Given the description of an element on the screen output the (x, y) to click on. 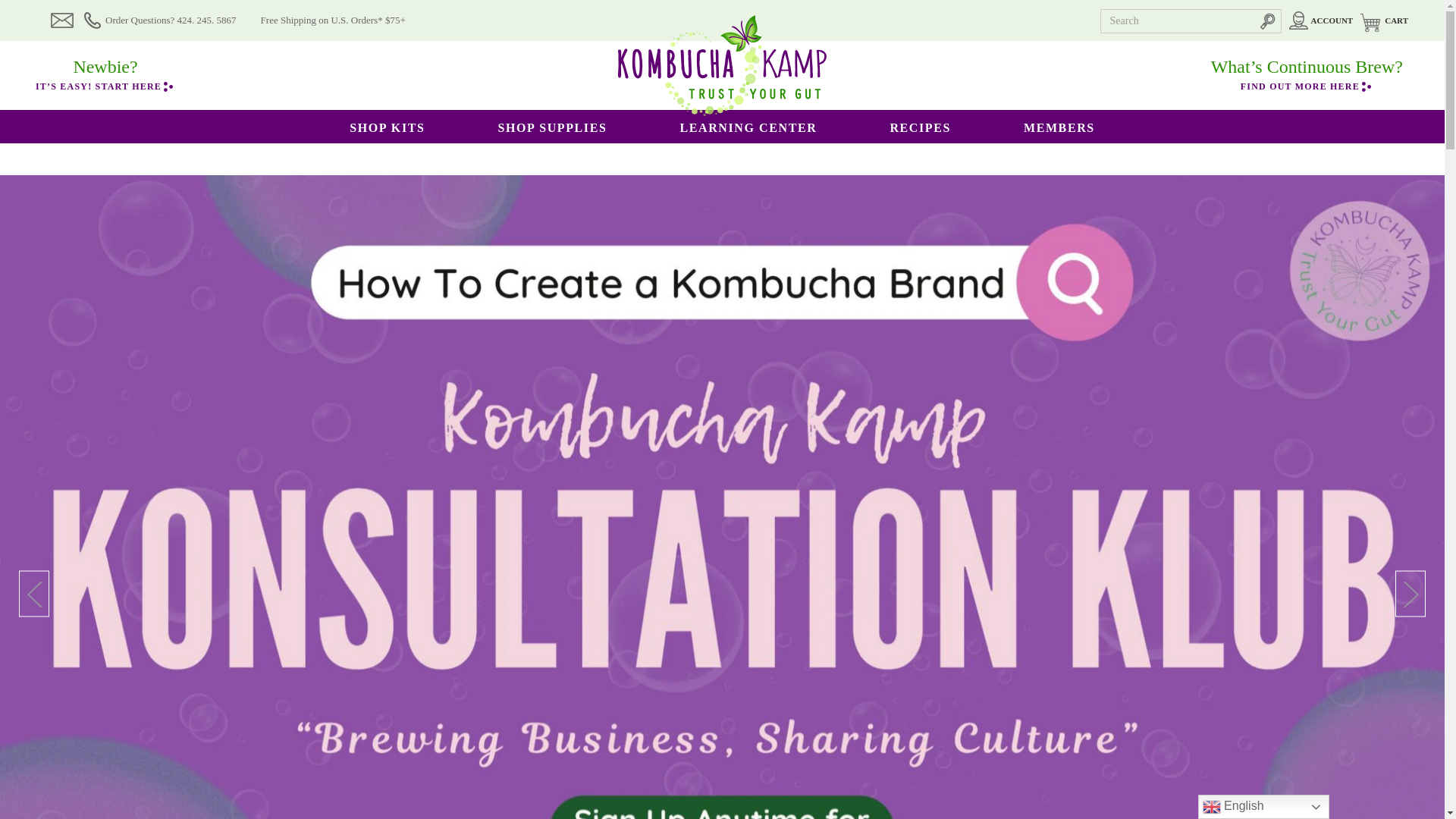
ACCOUNT (1321, 20)
CART (1383, 20)
SHOP KITS (387, 127)
Kombucha Kamp (722, 65)
Order Questions? 424. 245. 5867 (159, 20)
